Given the description of an element on the screen output the (x, y) to click on. 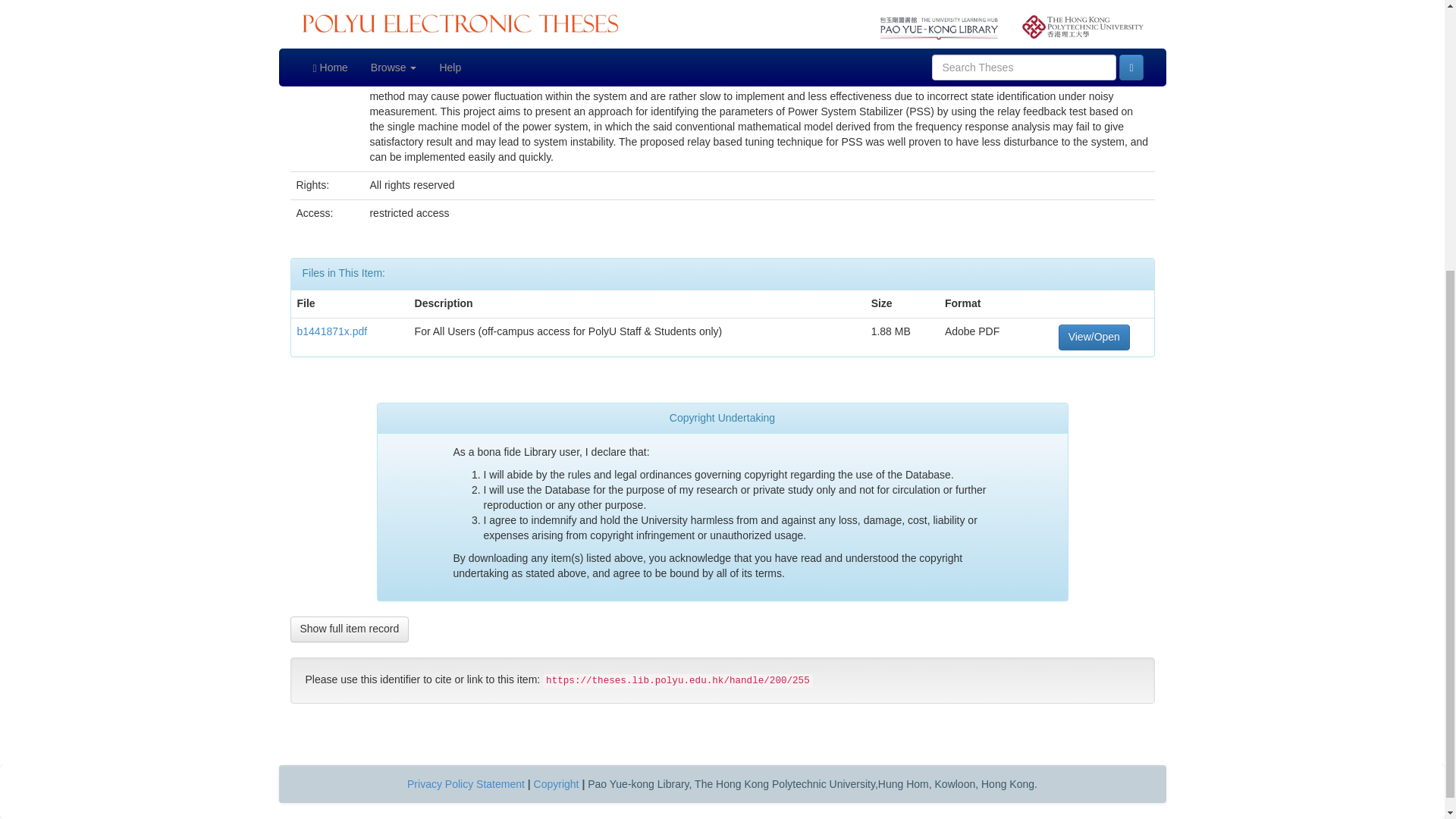
Privacy Policy Statement (465, 784)
Show full item record (349, 629)
Copyright (556, 784)
b1441871x.pdf (332, 331)
